Given the description of an element on the screen output the (x, y) to click on. 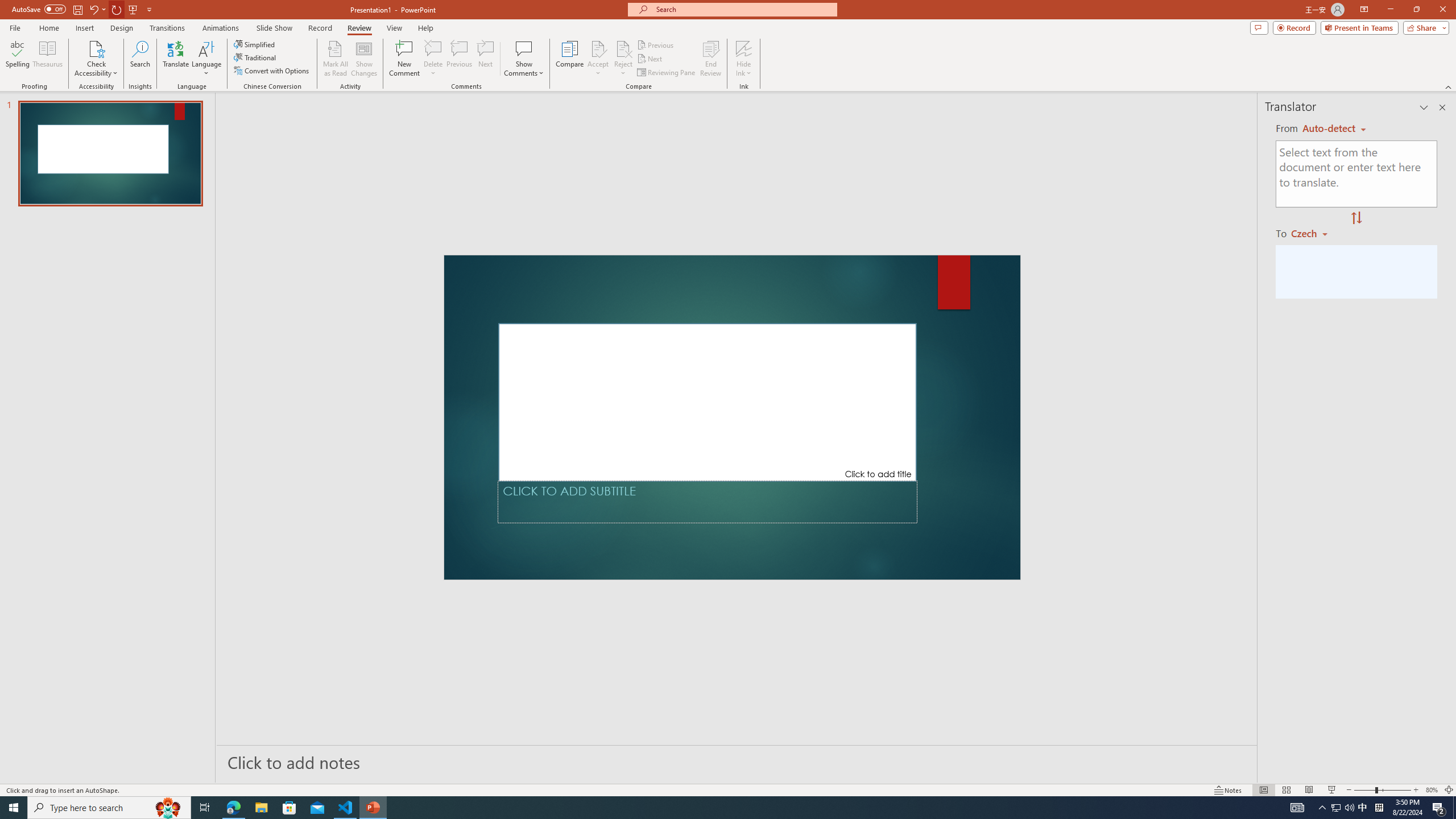
Reject (622, 58)
Accept Change (598, 48)
Previous (655, 44)
Subtitle TextBox (707, 501)
Translate (175, 58)
